Given the description of an element on the screen output the (x, y) to click on. 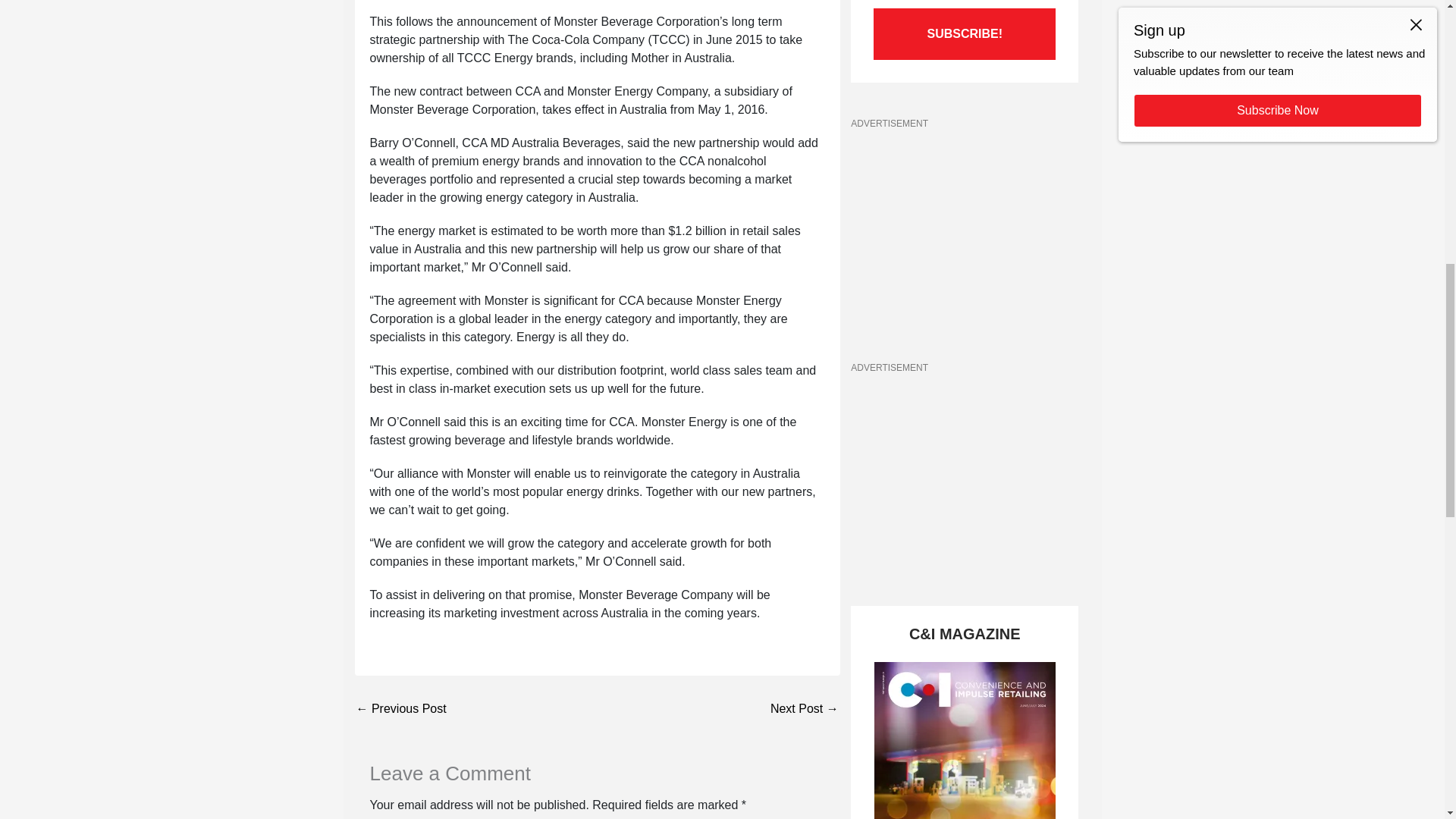
3rd party ad content (964, 232)
Cairns next stop for ACCC petrol study (795, 708)
ZICO launches chocolate flavour (410, 708)
Subscribe! (964, 33)
3rd party ad content (964, 476)
